Given the description of an element on the screen output the (x, y) to click on. 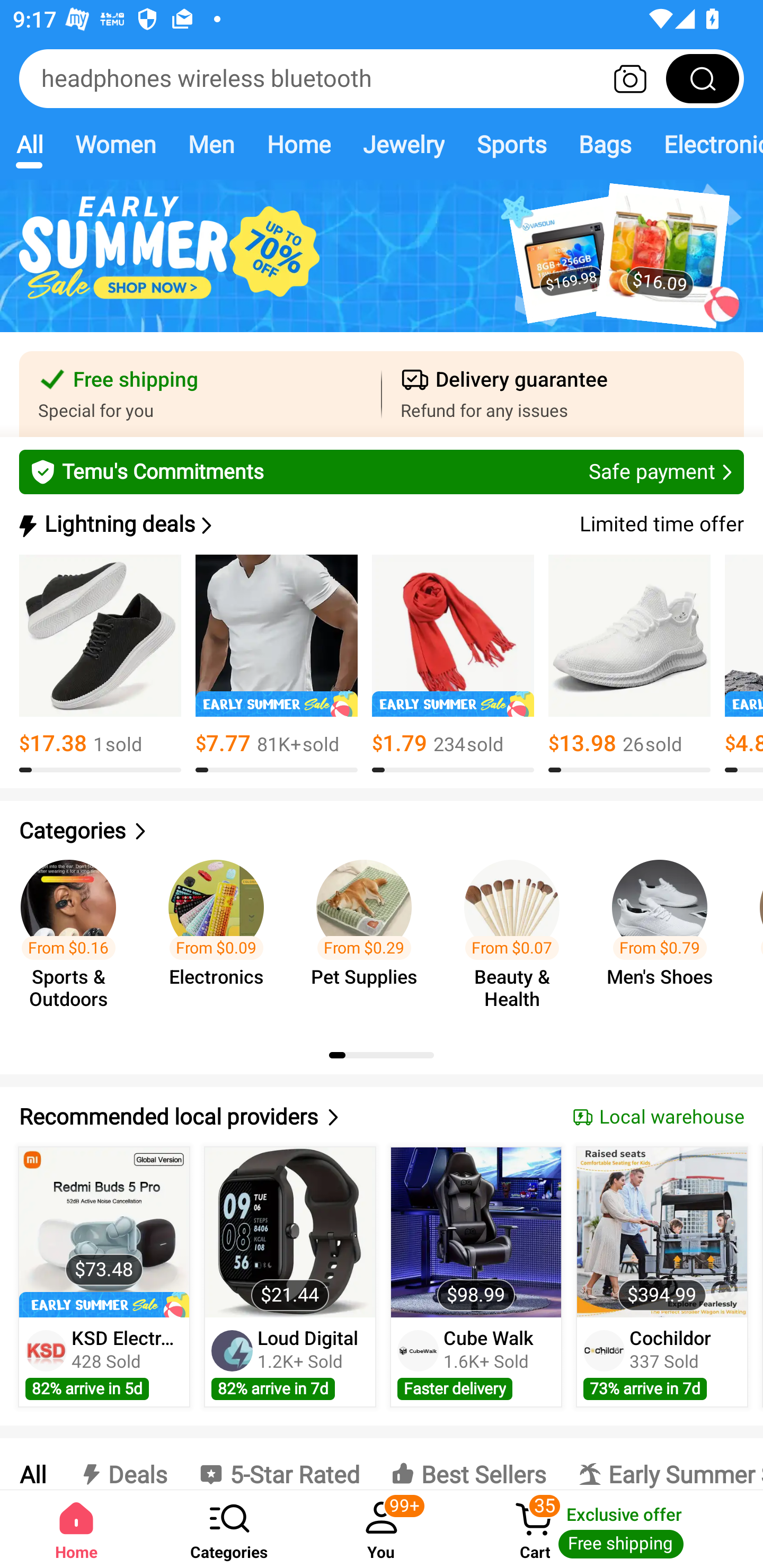
headphones wireless bluetooth (381, 78)
All (29, 144)
Women (115, 144)
Men (211, 144)
Home (298, 144)
Jewelry (403, 144)
Sports (511, 144)
Bags (605, 144)
Electronics (705, 144)
$169.98 $16.09 (381, 265)
Free shipping Special for you (200, 394)
Delivery guarantee Refund for any issues (562, 394)
Temu's Commitments (381, 471)
Lightning deals Lightning deals Limited time offer (379, 524)
$17.38 1￼sold 8.0 (100, 664)
$7.77 81K+￼sold 8.0 (276, 664)
$1.79 234￼sold 8.0 (453, 664)
$13.98 26￼sold 8.0 (629, 664)
Categories (381, 830)
From $0.16 Sports & Outdoors (74, 936)
From $0.09 Electronics (222, 936)
From $0.29 Pet Supplies (369, 936)
From $0.07 Beauty & Health (517, 936)
From $0.79 Men's Shoes (665, 936)
$73.48 KSD Electronics 428 Sold 82% arrive in 5d (103, 1276)
$21.44 Loud Digital 1.2K+ Sold 82% arrive in 7d (289, 1276)
$98.99 Cube Walk 1.6K+ Sold Faster delivery (475, 1276)
$394.99 Cochildor 337 Sold 73% arrive in 7d (661, 1276)
$73.48 (104, 1232)
$21.44 (290, 1232)
$98.99 (475, 1232)
$394.99 (661, 1232)
All (32, 1463)
Deals Deals Deals (122, 1463)
5-Star Rated 5-Star Rated 5-Star Rated (279, 1463)
Best Sellers Best Sellers Best Sellers (468, 1463)
Home (76, 1528)
Categories (228, 1528)
You ‎99+‎ You (381, 1528)
Cart 35 Cart Exclusive offer (610, 1528)
